Given the description of an element on the screen output the (x, y) to click on. 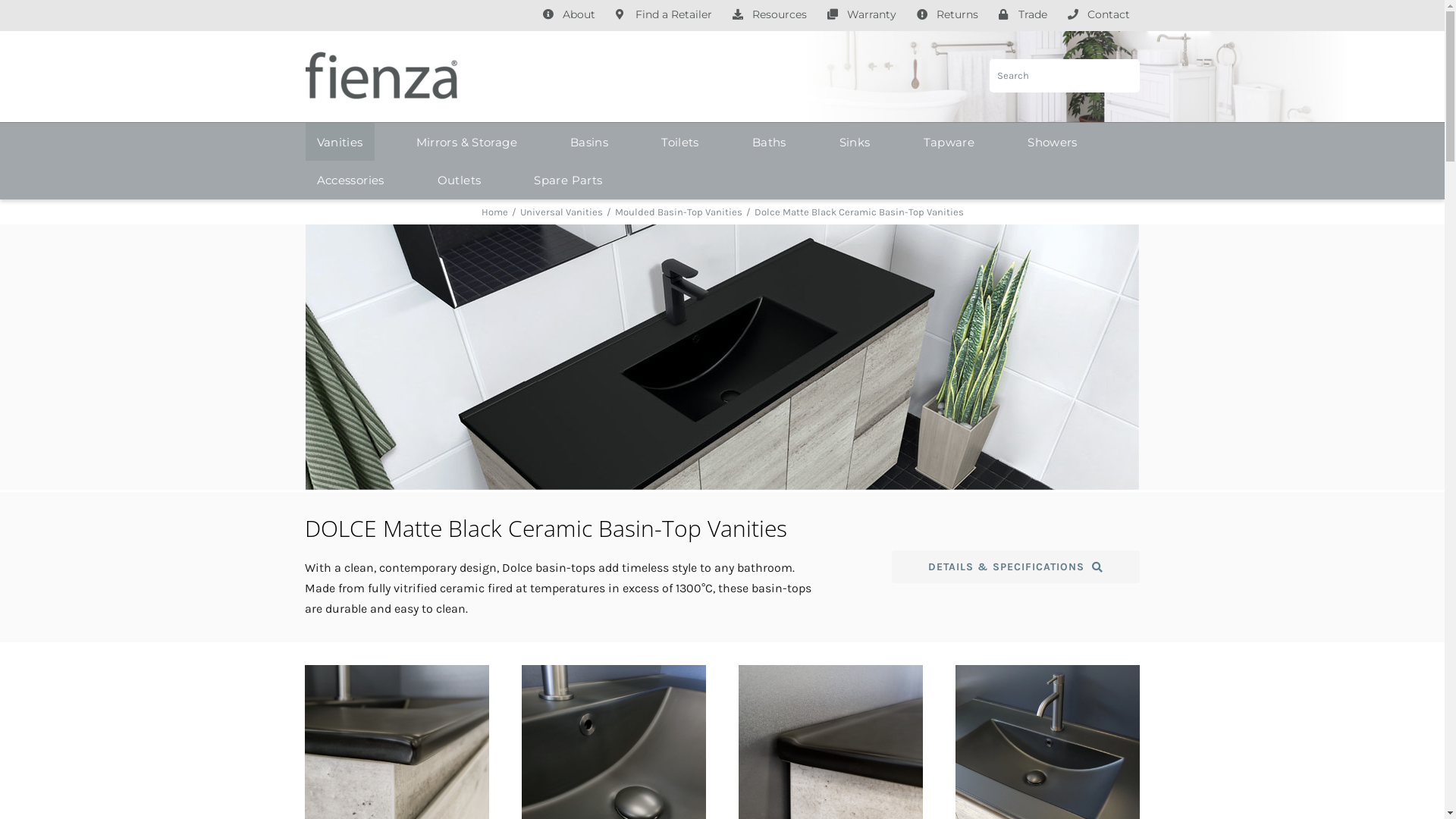
Warranty Element type: text (861, 15)
Toilets Element type: text (679, 141)
Outlets Element type: text (459, 179)
hero_btop_dolcemb Element type: hover (722, 356)
DETAILS & SPECIFICATIONS Element type: text (1015, 566)
Showers Element type: text (1052, 141)
Contact Element type: text (1098, 15)
Mirrors & Storage Element type: text (466, 141)
Basins Element type: text (588, 141)
Baths Element type: text (768, 141)
Returns Element type: text (947, 15)
Vanities Element type: text (338, 141)
Accessories Element type: text (349, 179)
Find a Retailer Element type: text (663, 15)
About Element type: text (568, 15)
Moulded Basin-Top Vanities Element type: text (677, 211)
Sinks Element type: text (854, 141)
Resources Element type: text (768, 15)
Spare Parts Element type: text (567, 179)
Trade Element type: text (1022, 15)
Tapware Element type: text (948, 141)
Universal Vanities Element type: text (561, 211)
Home Element type: text (493, 211)
